Given the description of an element on the screen output the (x, y) to click on. 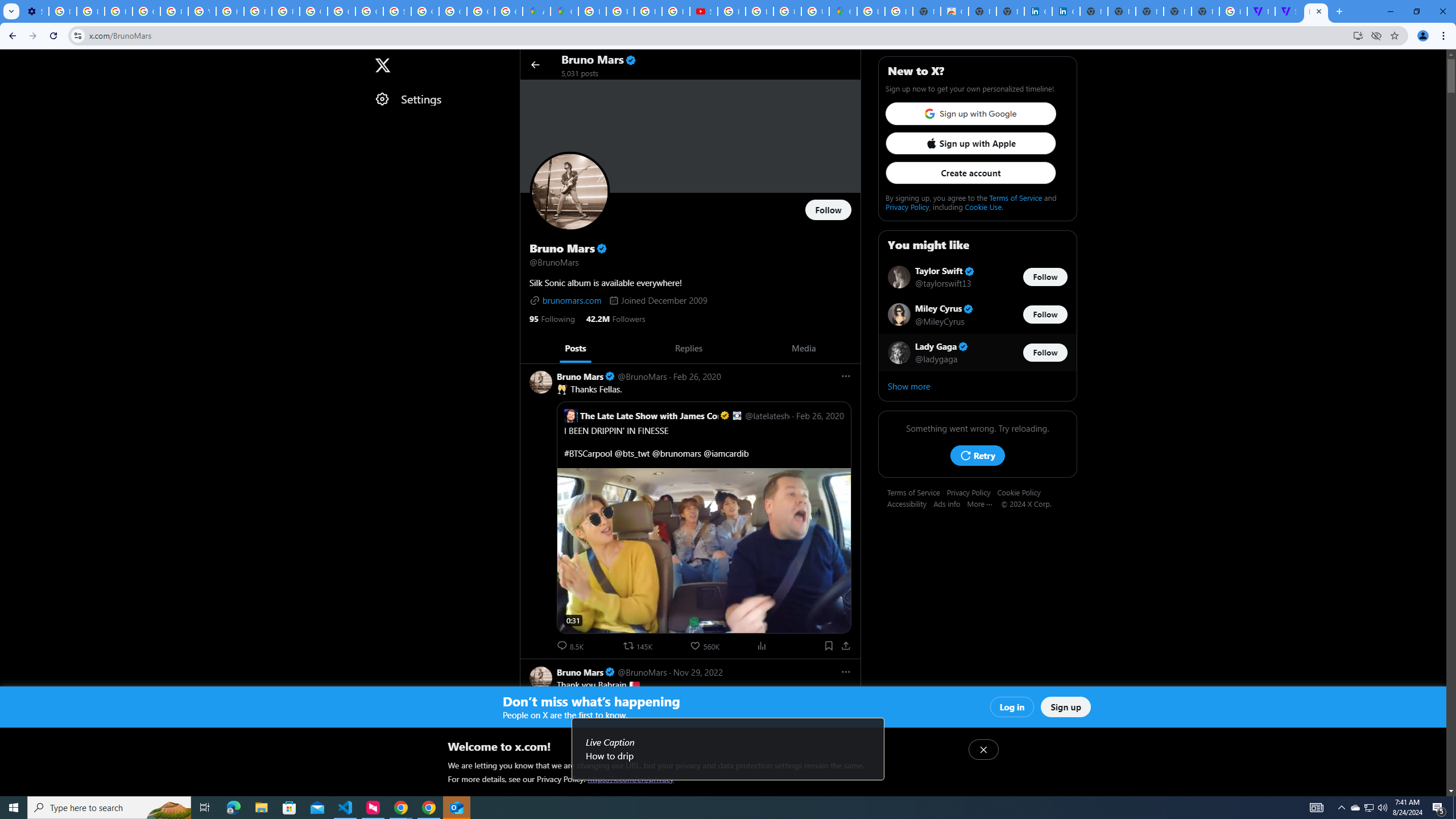
@taylorswift13 (943, 283)
145681 reposts. Repost (639, 645)
Miley Cyrus Verified account @MileyCyrus Follow @MileyCyrus (977, 314)
System (6, 6)
Provides details about verified accounts. (601, 247)
Restore (1416, 11)
https://x.com/en/privacy (631, 778)
View post analytics (762, 645)
@BrunoMars (641, 671)
New Tab (1205, 11)
X (382, 65)
Subscriptions - YouTube (703, 11)
